Given the description of an element on the screen output the (x, y) to click on. 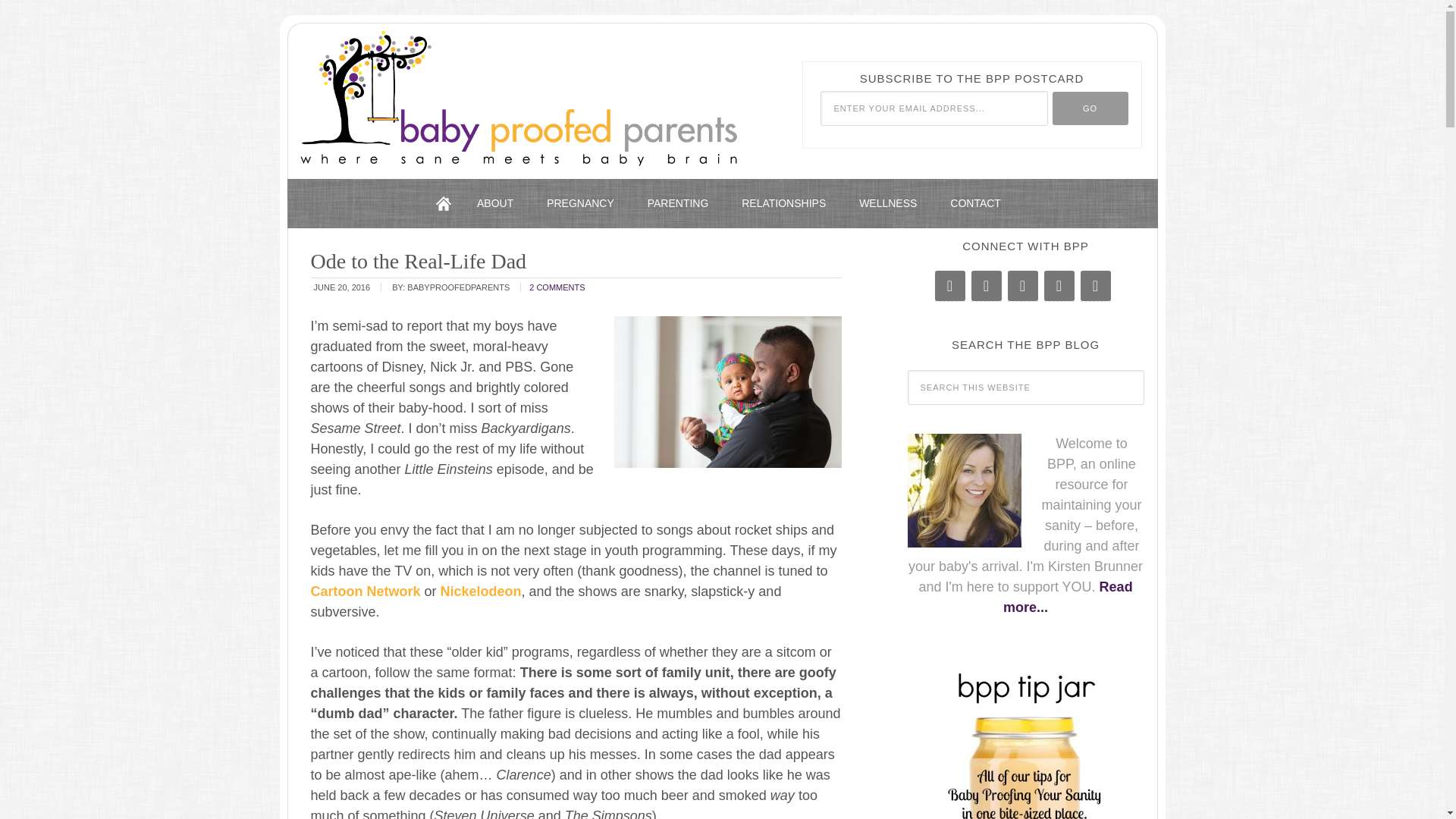
PARENTING (677, 203)
Facebook (948, 286)
Contact (1058, 286)
Instagram (1021, 286)
PREGNANCY (579, 203)
ABOUT (494, 203)
baby proofed parents (477, 93)
Nickelodeon (481, 590)
Go (1090, 107)
RELATIONSHIPS (783, 203)
CONTACT (975, 203)
Nickelodeon (481, 590)
2 COMMENTS (557, 286)
